Given the description of an element on the screen output the (x, y) to click on. 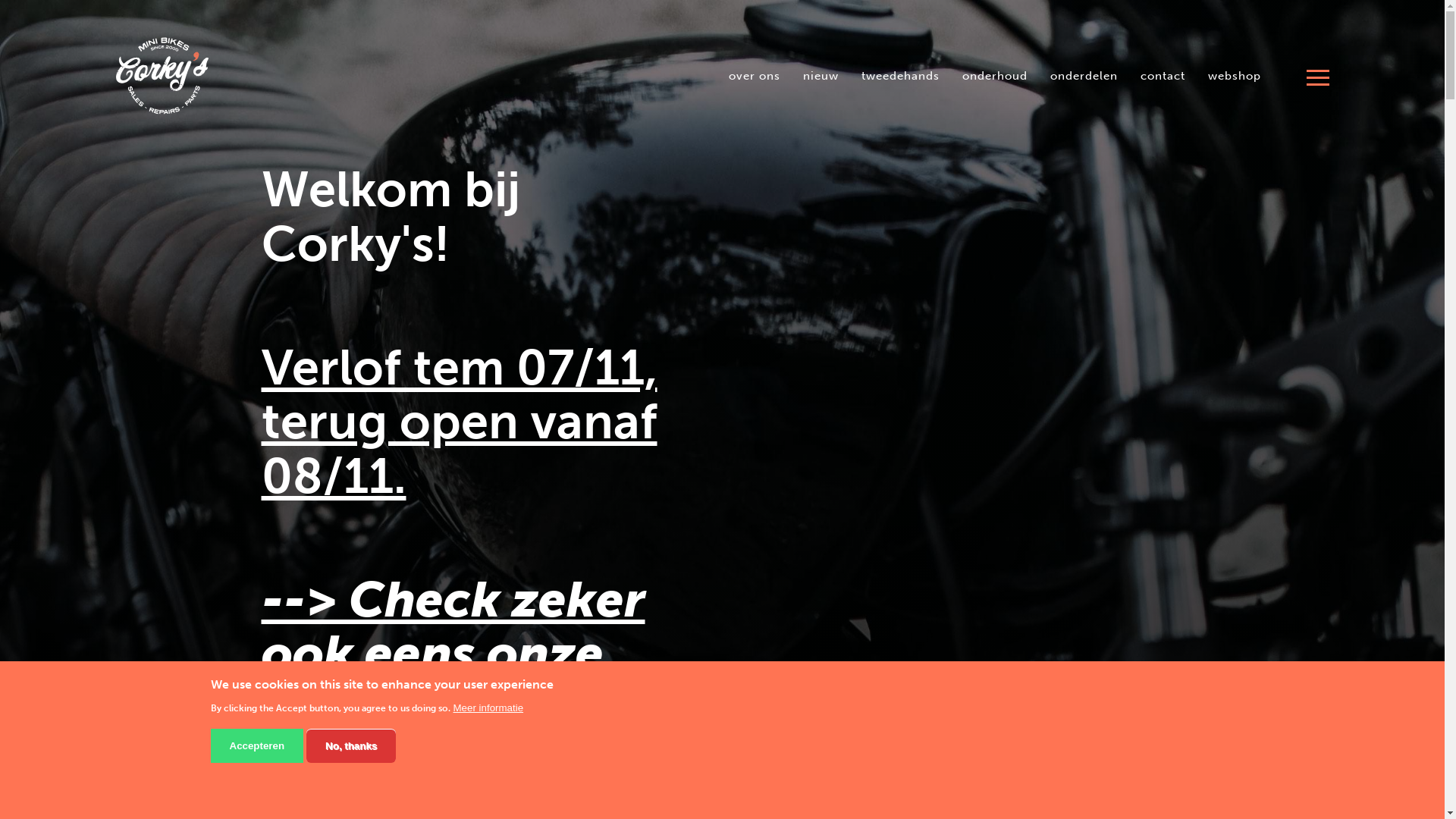
tweedehands Element type: text (899, 75)
onderhoud Element type: text (994, 75)
webshop Element type: text (1234, 75)
No, thanks Element type: text (350, 745)
over ons Element type: text (754, 75)
contact Element type: text (1161, 75)
nieuw Element type: text (820, 75)
Meer informatie Element type: text (488, 707)
Accepteren Element type: text (257, 745)
Overslaan en naar de inhoud gaan Element type: text (0, 0)
onderdelen Element type: text (1083, 75)
